Given the description of an element on the screen output the (x, y) to click on. 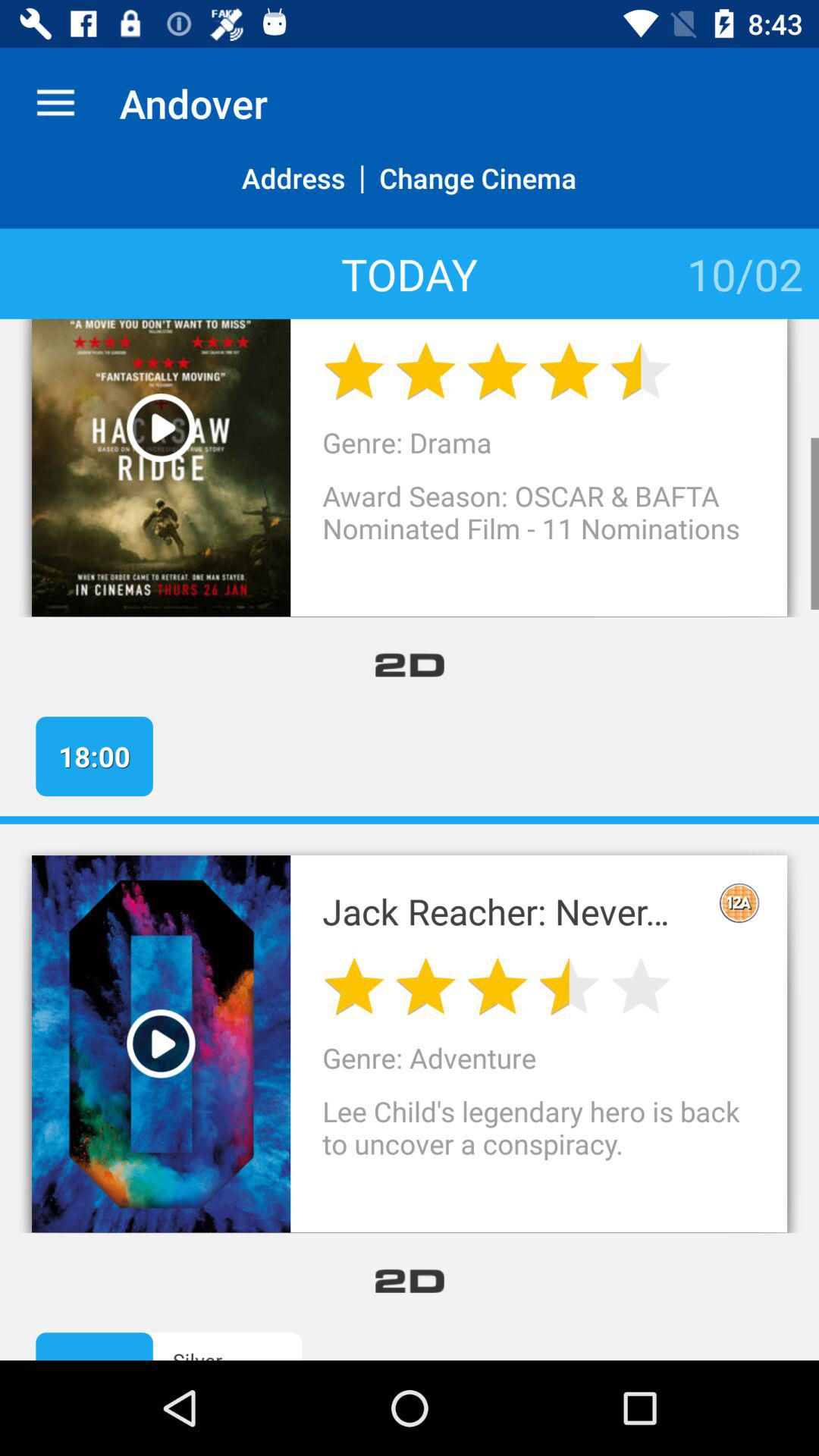
play video (160, 1042)
